Given the description of an element on the screen output the (x, y) to click on. 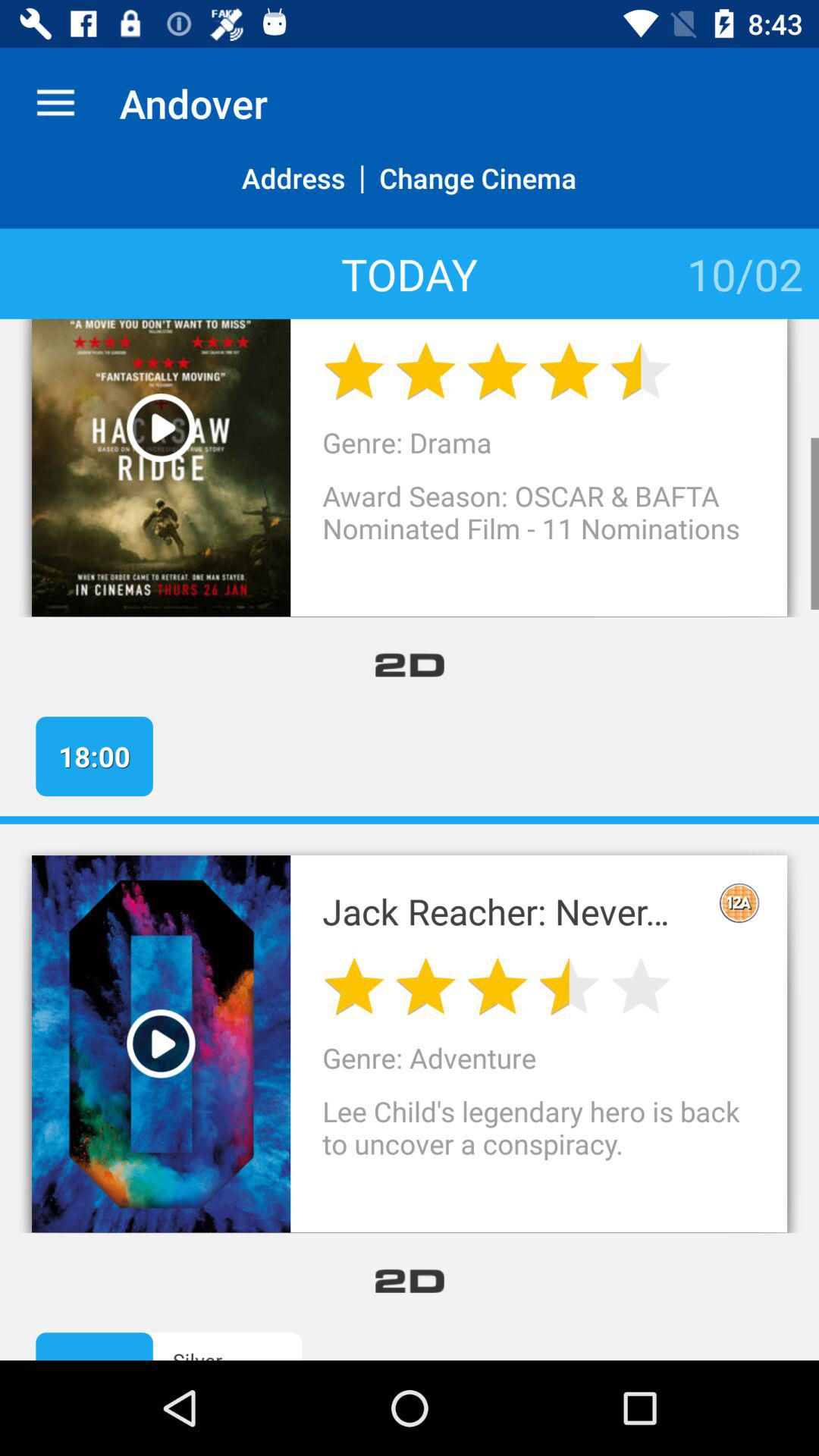
play video (160, 1042)
